Given the description of an element on the screen output the (x, y) to click on. 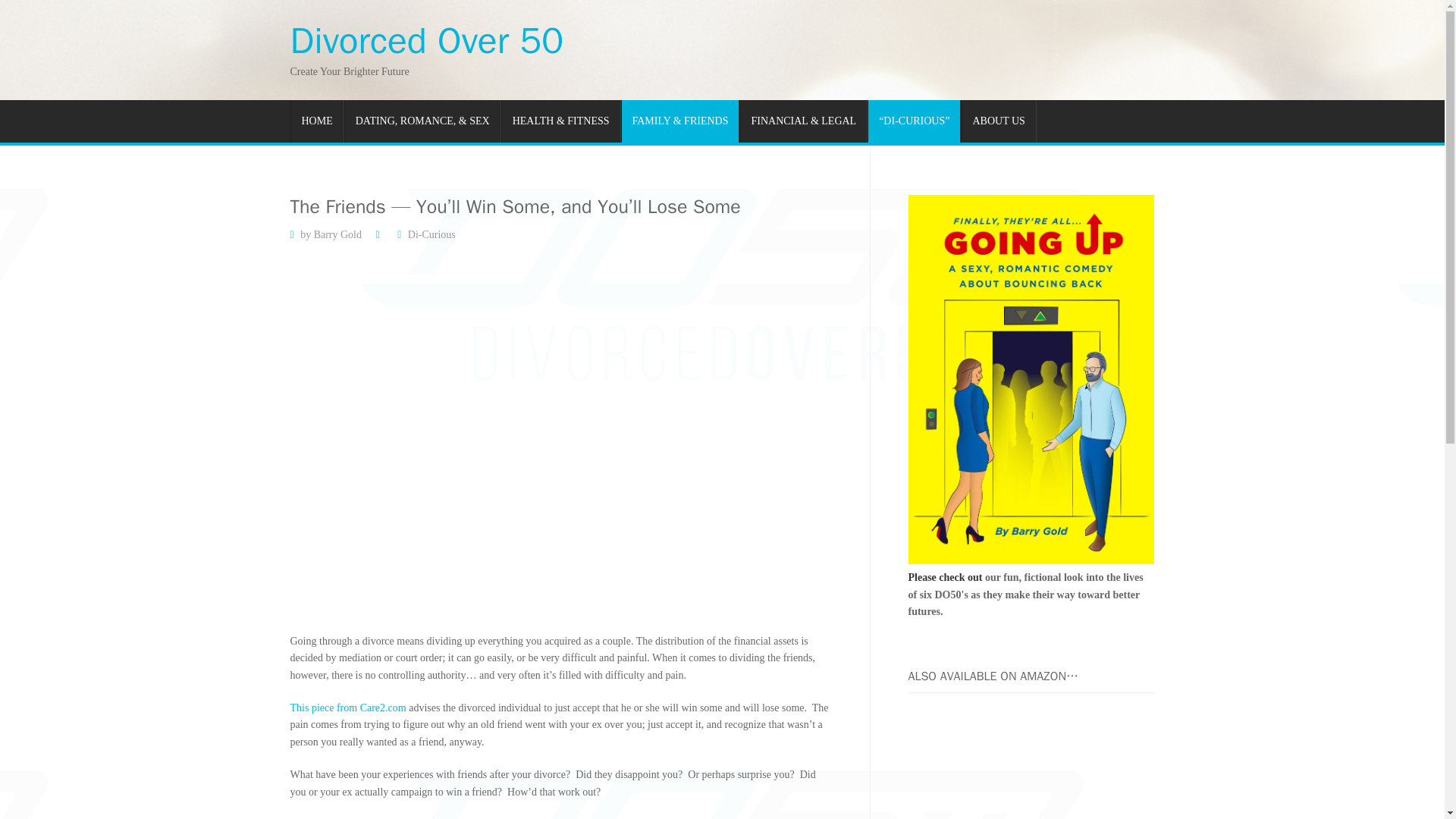
Please check out (945, 577)
Divorced Over 50 (425, 40)
HOME (316, 120)
Di-Curious (431, 234)
Barry Gold (337, 234)
Divorced Over 50 (425, 40)
ABOUT US (997, 120)
This piece from Care2.com (349, 707)
About Us (997, 120)
